Given the description of an element on the screen output the (x, y) to click on. 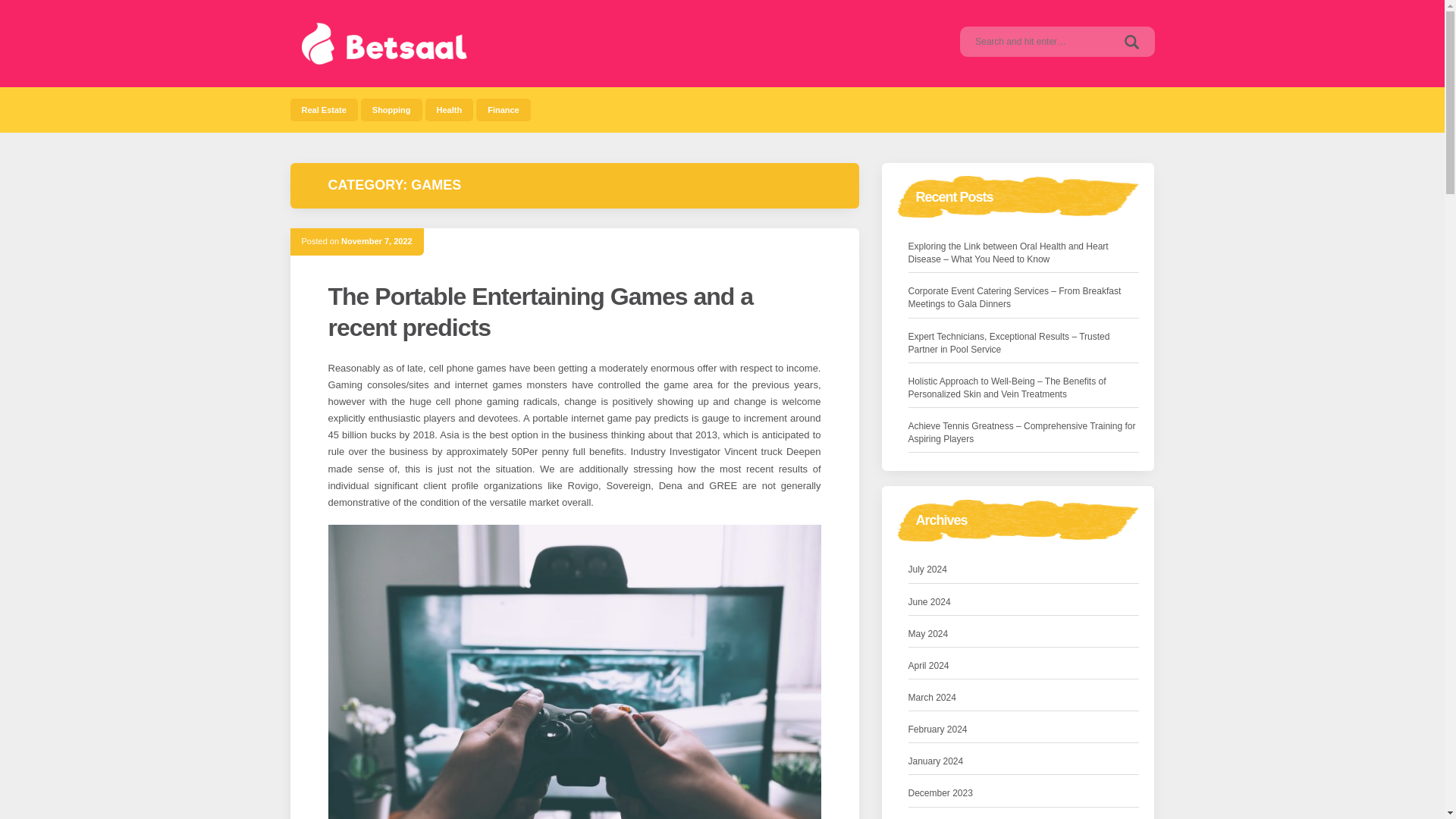
December 2023 (940, 793)
Real Estate (322, 109)
November 2023 (940, 818)
Health (449, 109)
Search (1131, 41)
Shopping (391, 109)
January 2024 (935, 761)
Search (1131, 41)
Finance (503, 109)
Finance (503, 109)
